Given the description of an element on the screen output the (x, y) to click on. 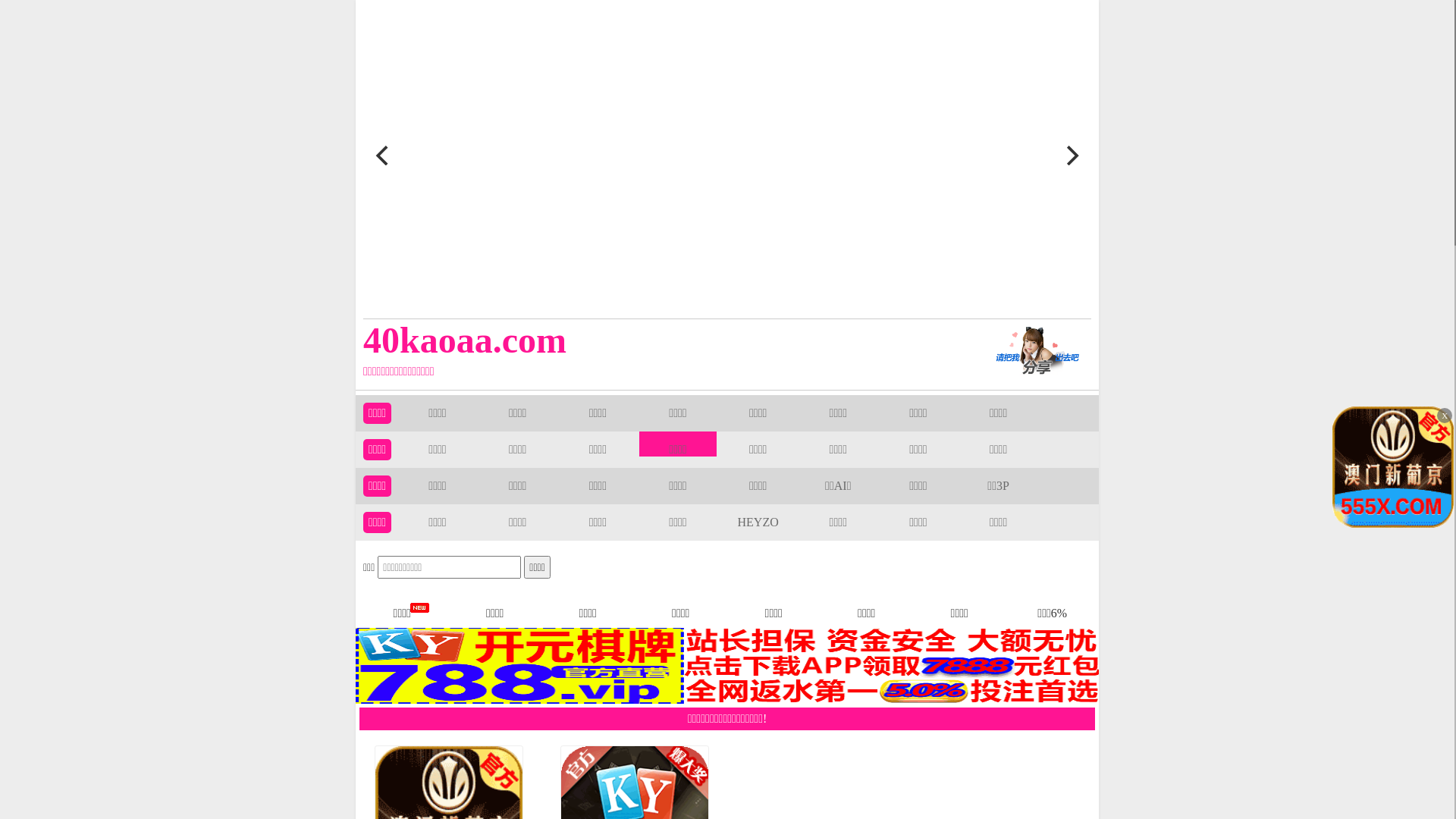
HEYZO Element type: text (757, 521)
40kaoaa.com Element type: text (654, 339)
